Given the description of an element on the screen output the (x, y) to click on. 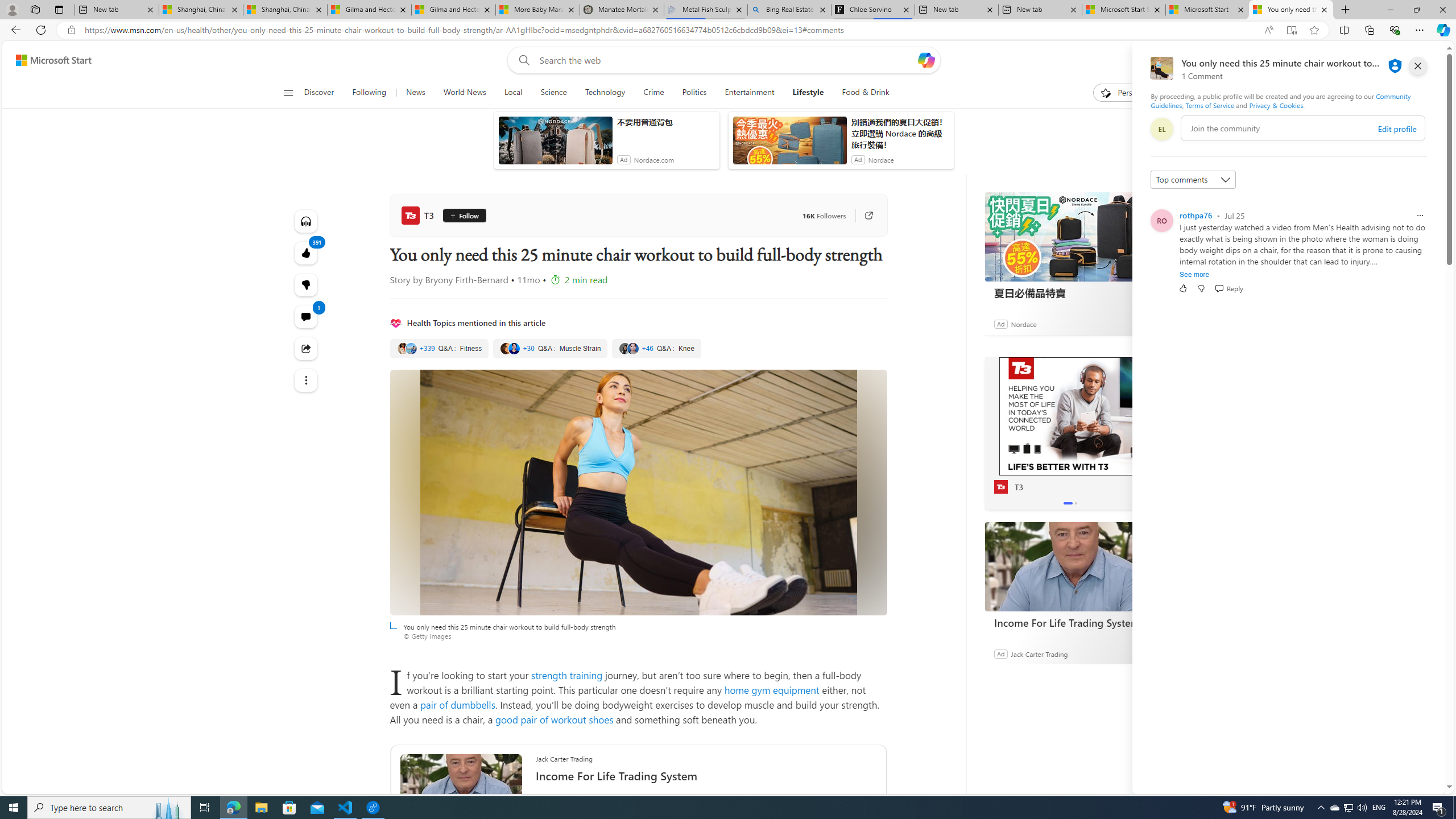
World News (464, 92)
Web search (520, 60)
strength training (566, 675)
Entertainment (748, 92)
Lifestyle (808, 92)
Bing Real Estate - Home sales and rental listings (788, 9)
Go to publisher's site (863, 215)
Share this story (305, 348)
Manatee Mortality Statistics | FWC (621, 9)
Local (513, 92)
News (415, 92)
News (414, 92)
